Given the description of an element on the screen output the (x, y) to click on. 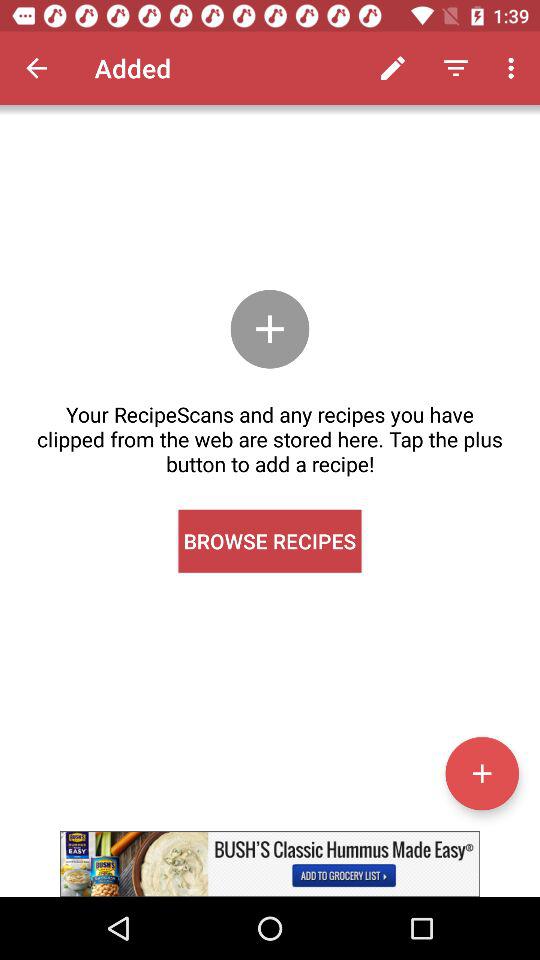
back to previous menu (36, 68)
